Given the description of an element on the screen output the (x, y) to click on. 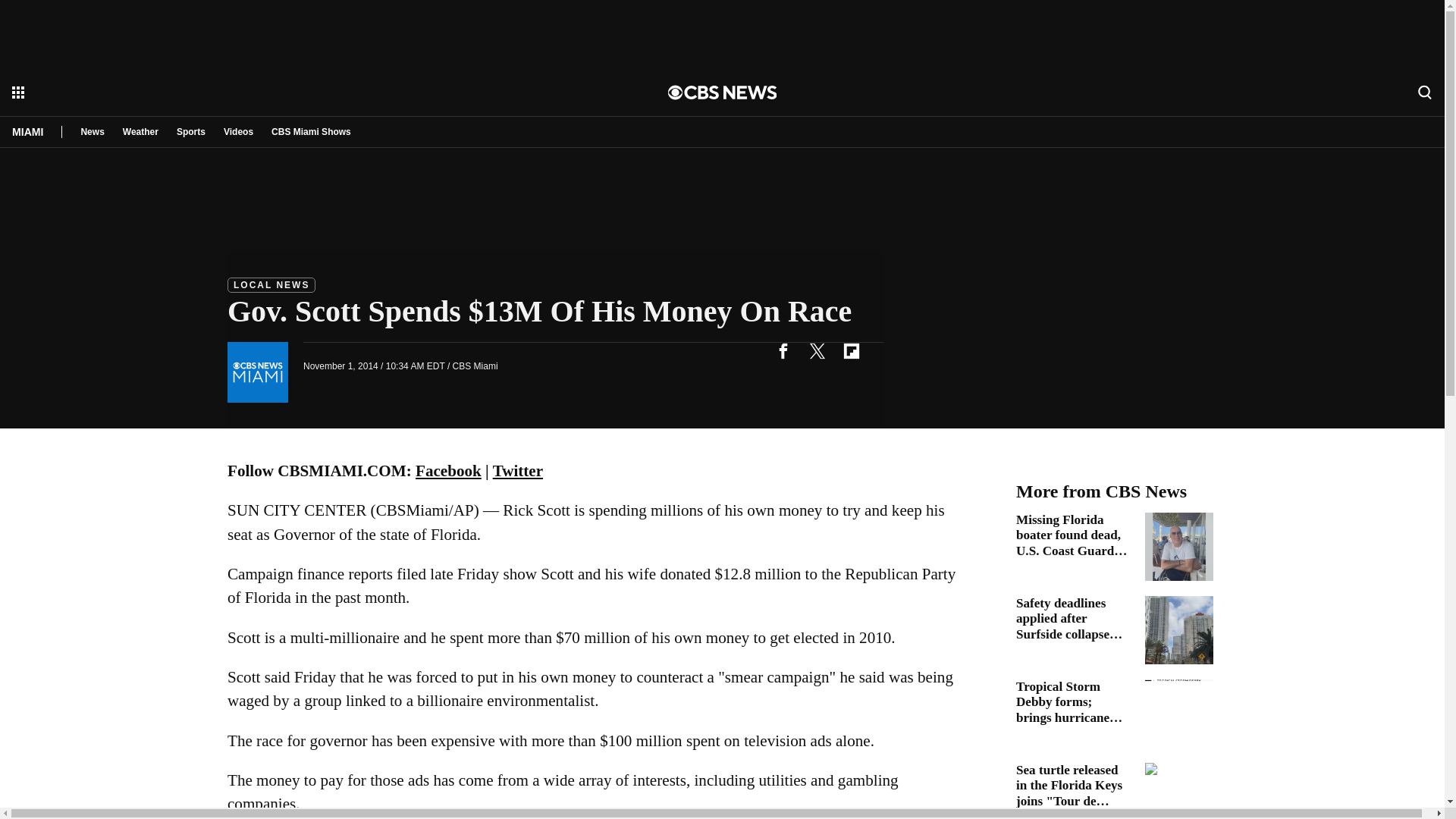
facebook (782, 350)
flipboard (850, 350)
twitter (816, 350)
